Given the description of an element on the screen output the (x, y) to click on. 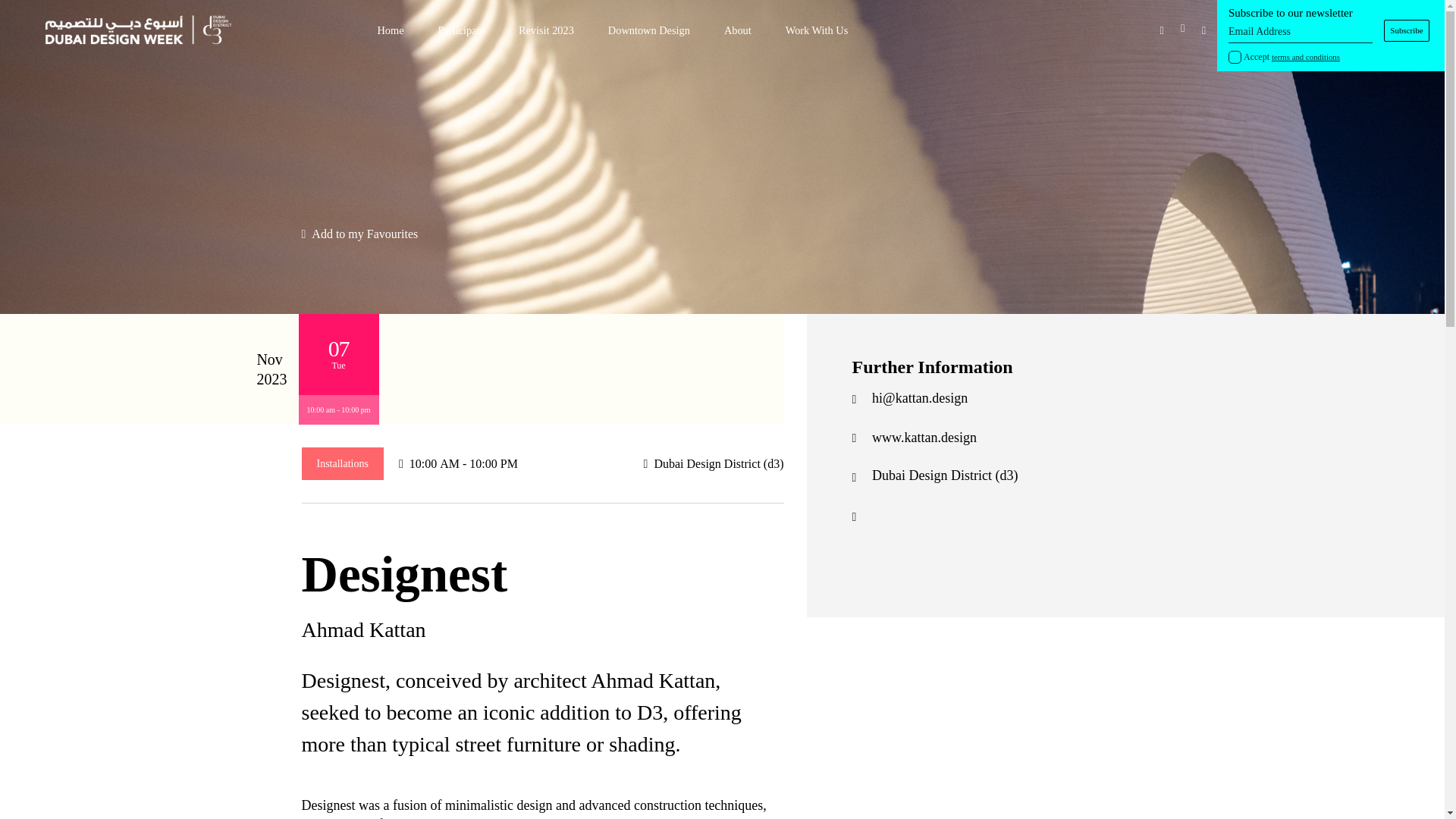
  Add to my Favourites (360, 233)
Subscribe (1406, 30)
Revisit 2023 (545, 30)
www.kattan.design (924, 437)
Downtown Design (649, 30)
Work With Us (817, 30)
Subscribe (1406, 30)
terms and conditions (1305, 56)
